Given the description of an element on the screen output the (x, y) to click on. 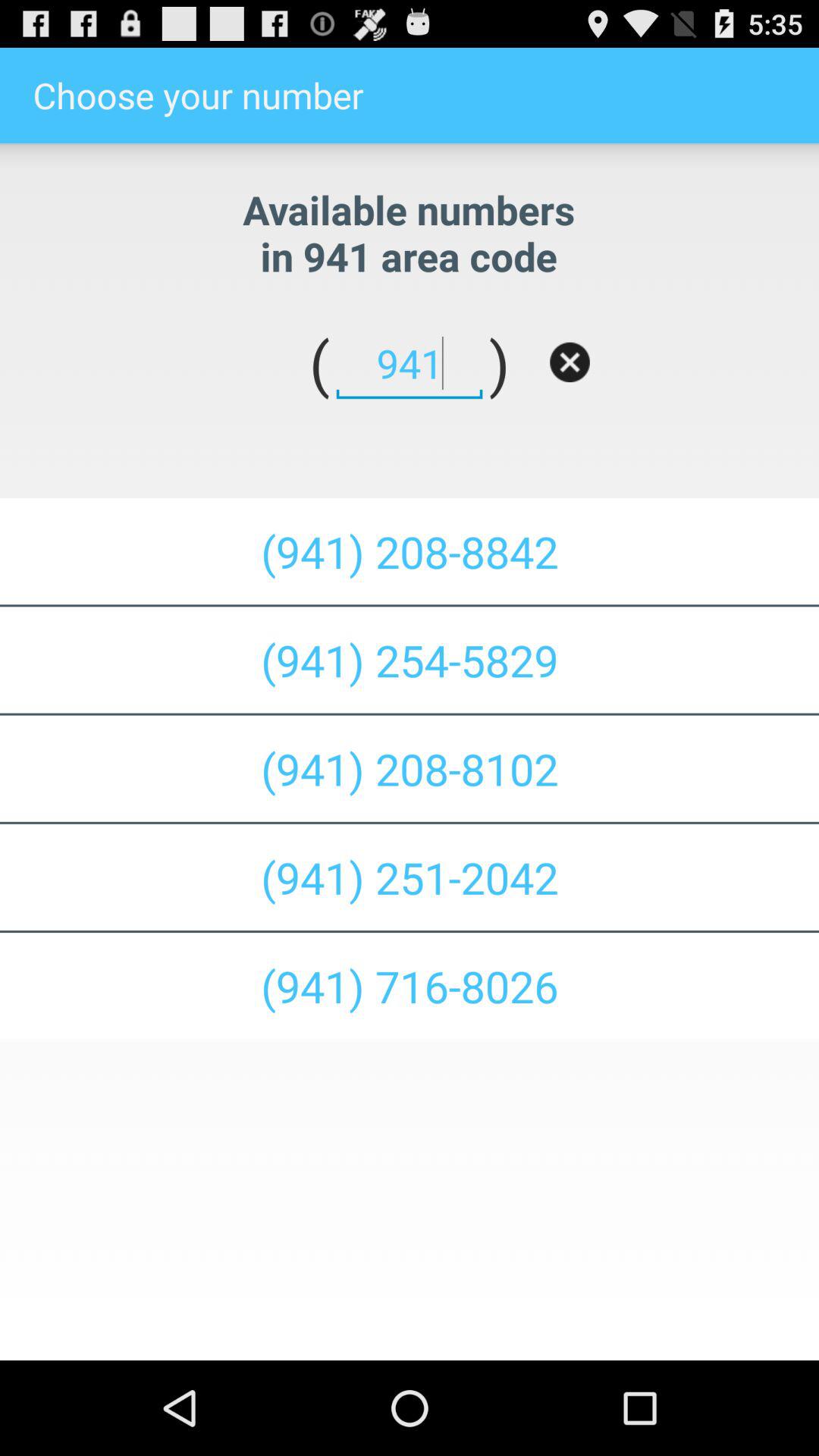
close entry (569, 362)
